Given the description of an element on the screen output the (x, y) to click on. 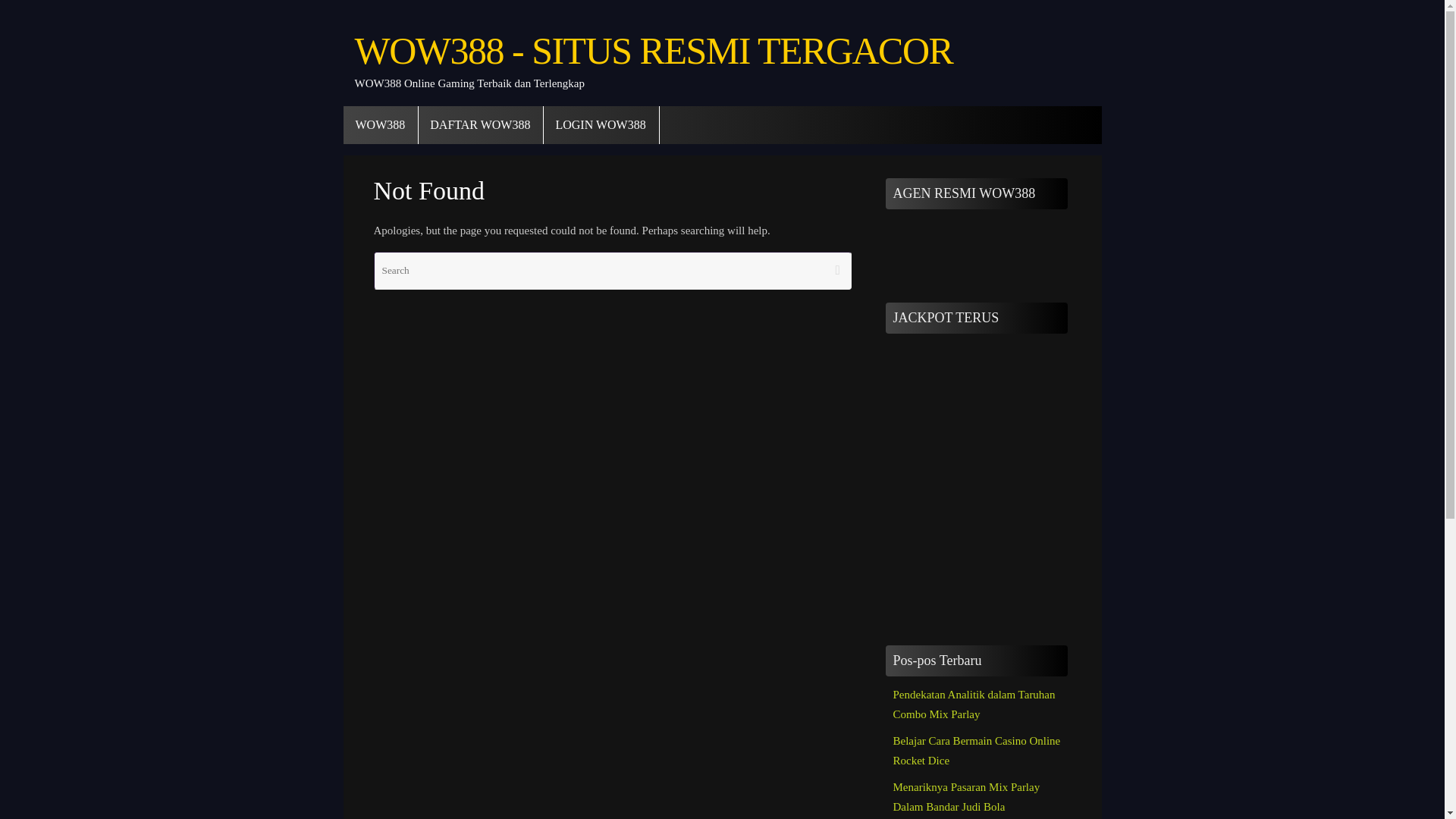
Search (837, 270)
Belajar Cara Bermain Casino Online Rocket Dice (977, 750)
DAFTAR WOW388 (480, 125)
JACKPOT TERUS (976, 479)
LOGIN WOW388 (600, 125)
WOW388 (379, 125)
Pendekatan Analitik dalam Taruhan Combo Mix Parlay (974, 704)
WOW388 - SITUS RESMI TERGACOR (654, 51)
Menariknya Pasaran Mix Parlay Dalam Bandar Judi Bola (967, 797)
